Given the description of an element on the screen output the (x, y) to click on. 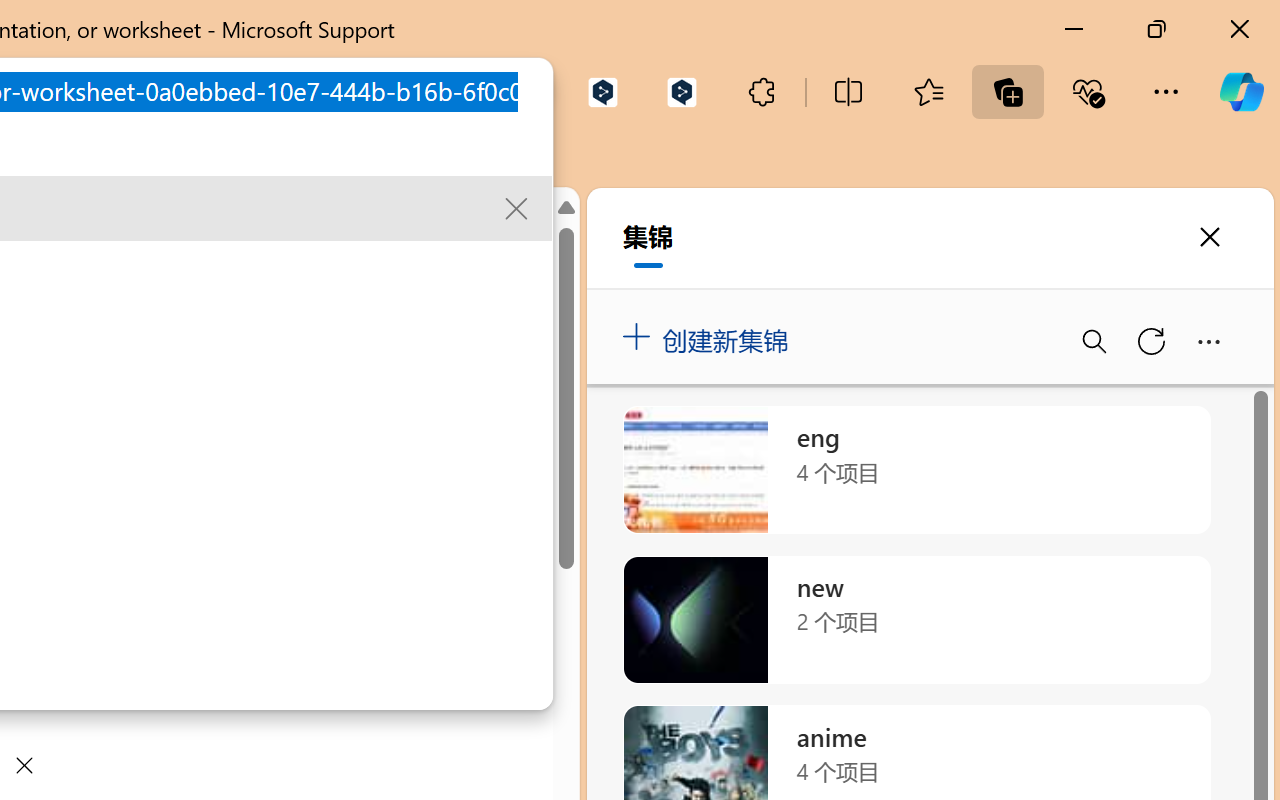
Sign in to your account (465, 235)
